Given the description of an element on the screen output the (x, y) to click on. 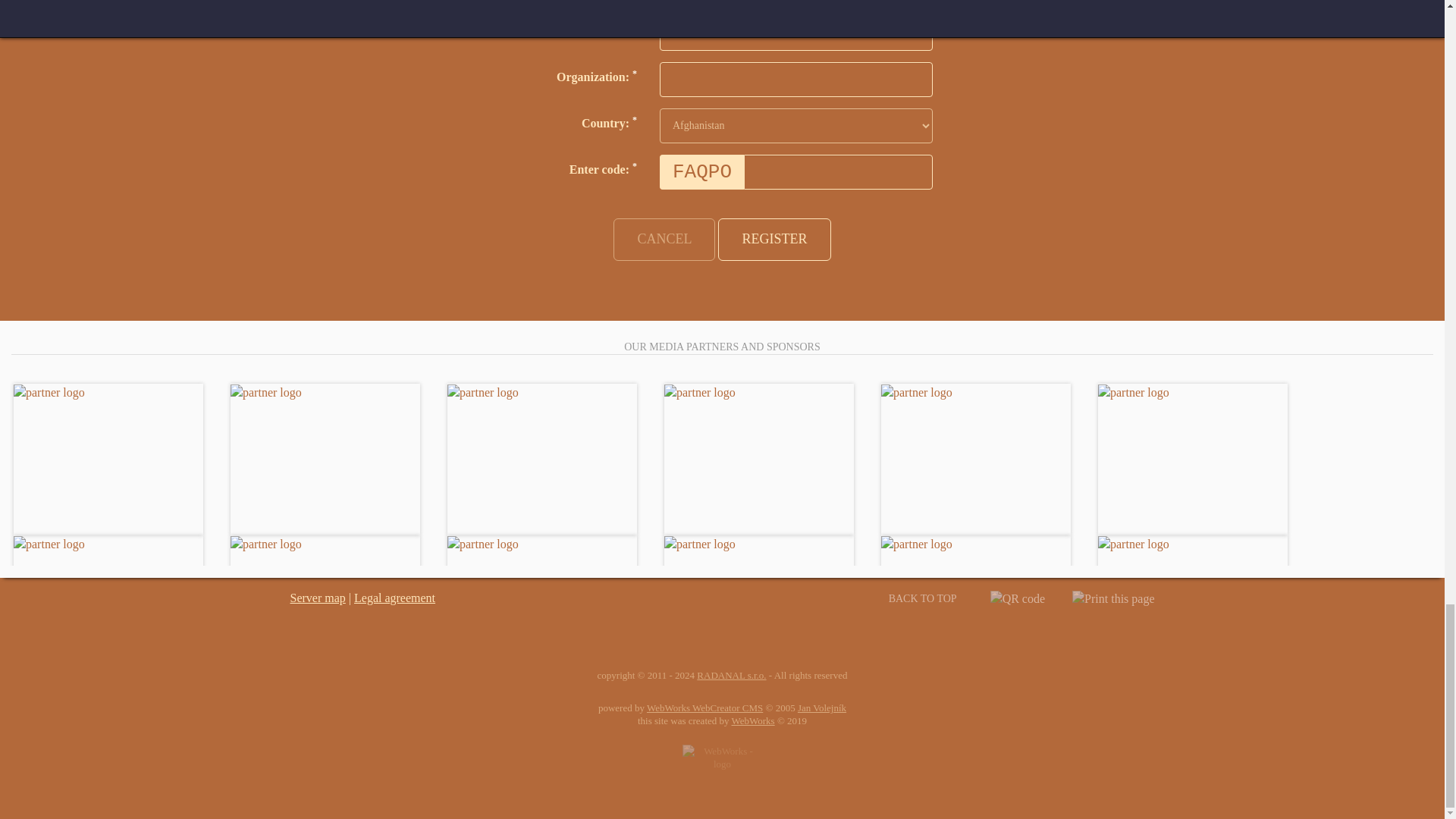
Register (773, 239)
Register (773, 239)
Cancel (663, 239)
